Given the description of an element on the screen output the (x, y) to click on. 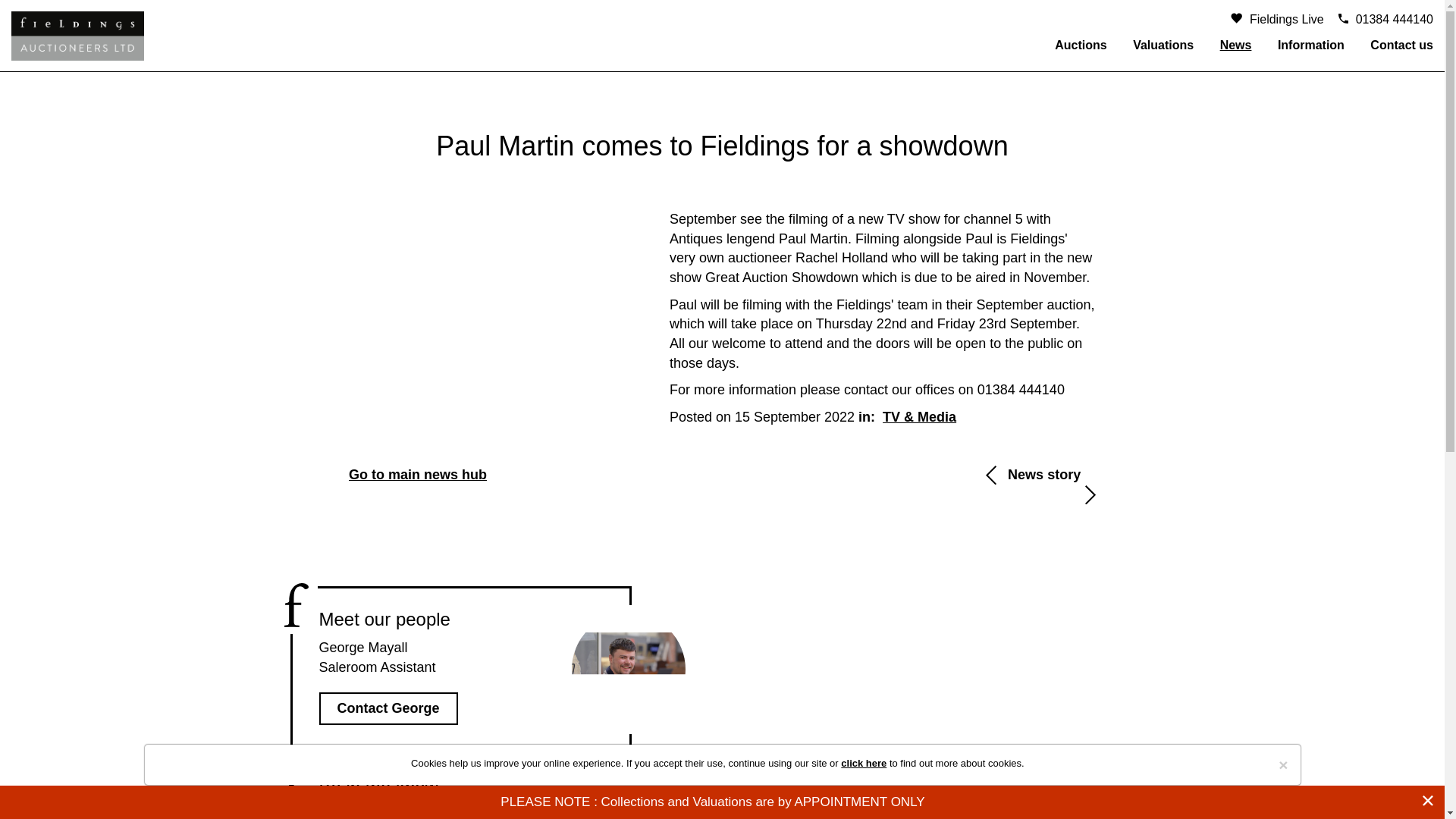
Valuations (1163, 45)
Information (1310, 45)
01384 444140 (1379, 19)
Auctions (1080, 45)
Fieldings Live (1271, 19)
News (1235, 45)
